Given the description of an element on the screen output the (x, y) to click on. 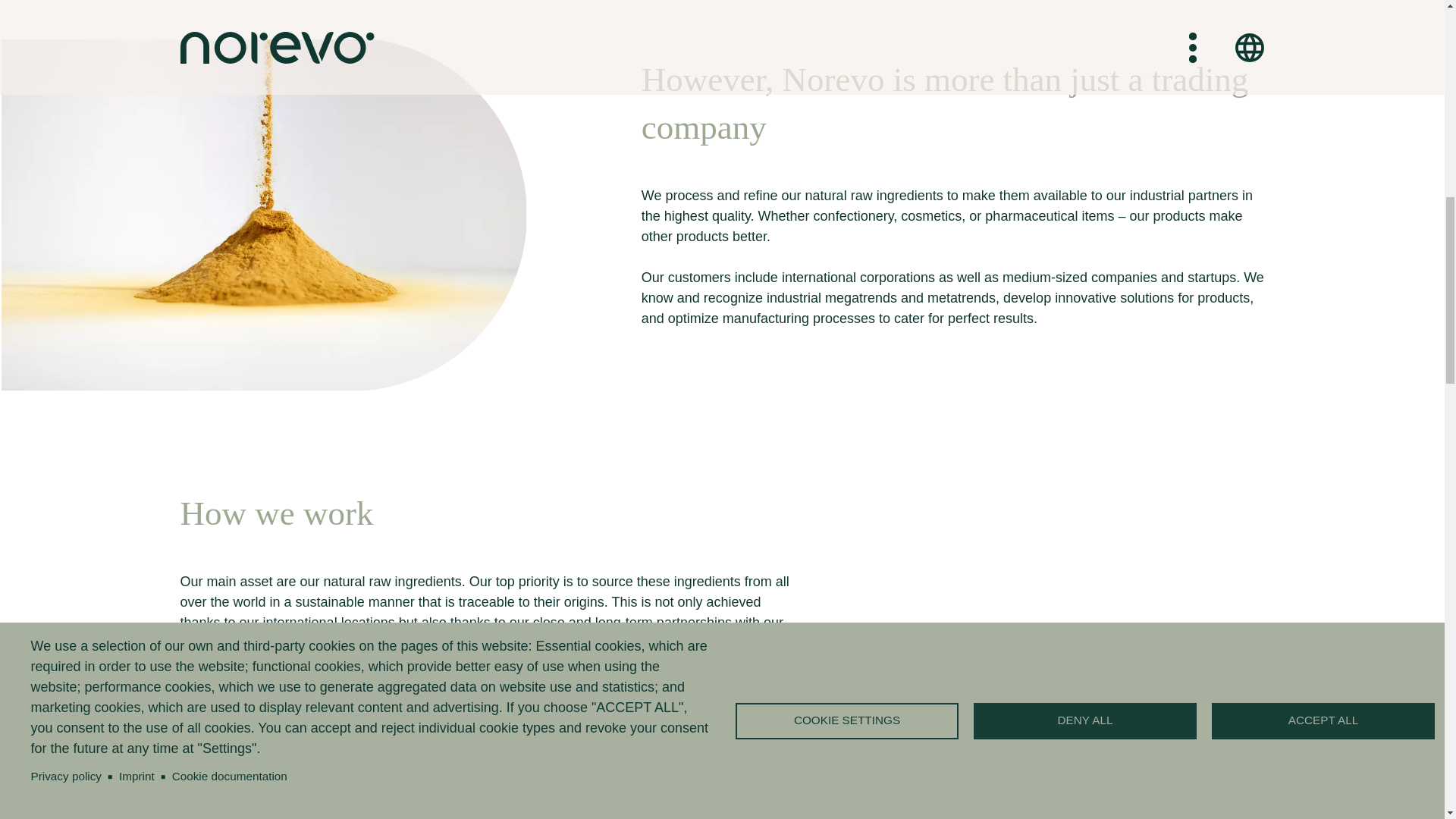
MORE ABOUT US (258, 794)
